Given the description of an element on the screen output the (x, y) to click on. 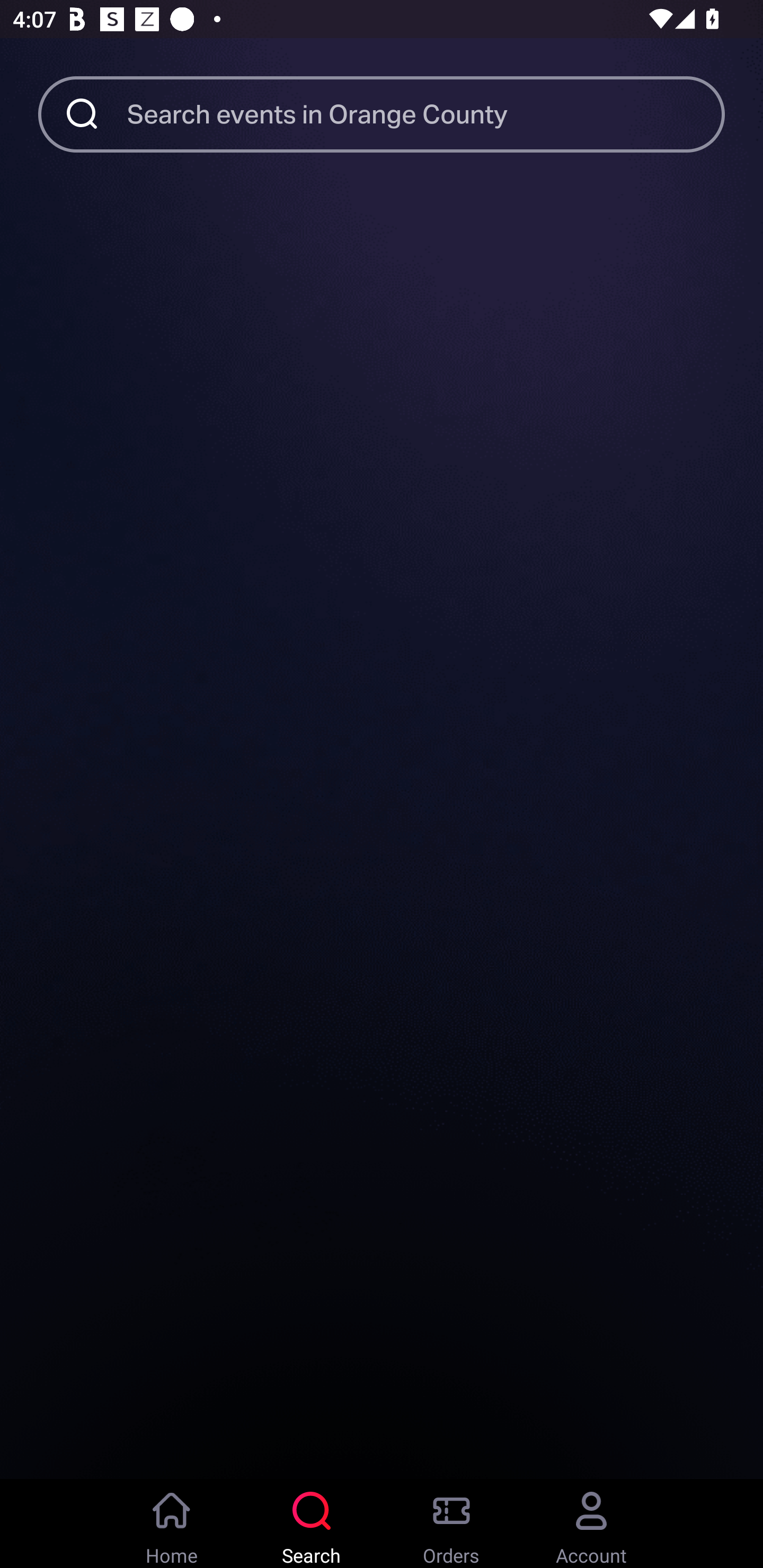
Search events in Orange County (425, 113)
Home (171, 1523)
Orders (451, 1523)
Account (591, 1523)
